Given the description of an element on the screen output the (x, y) to click on. 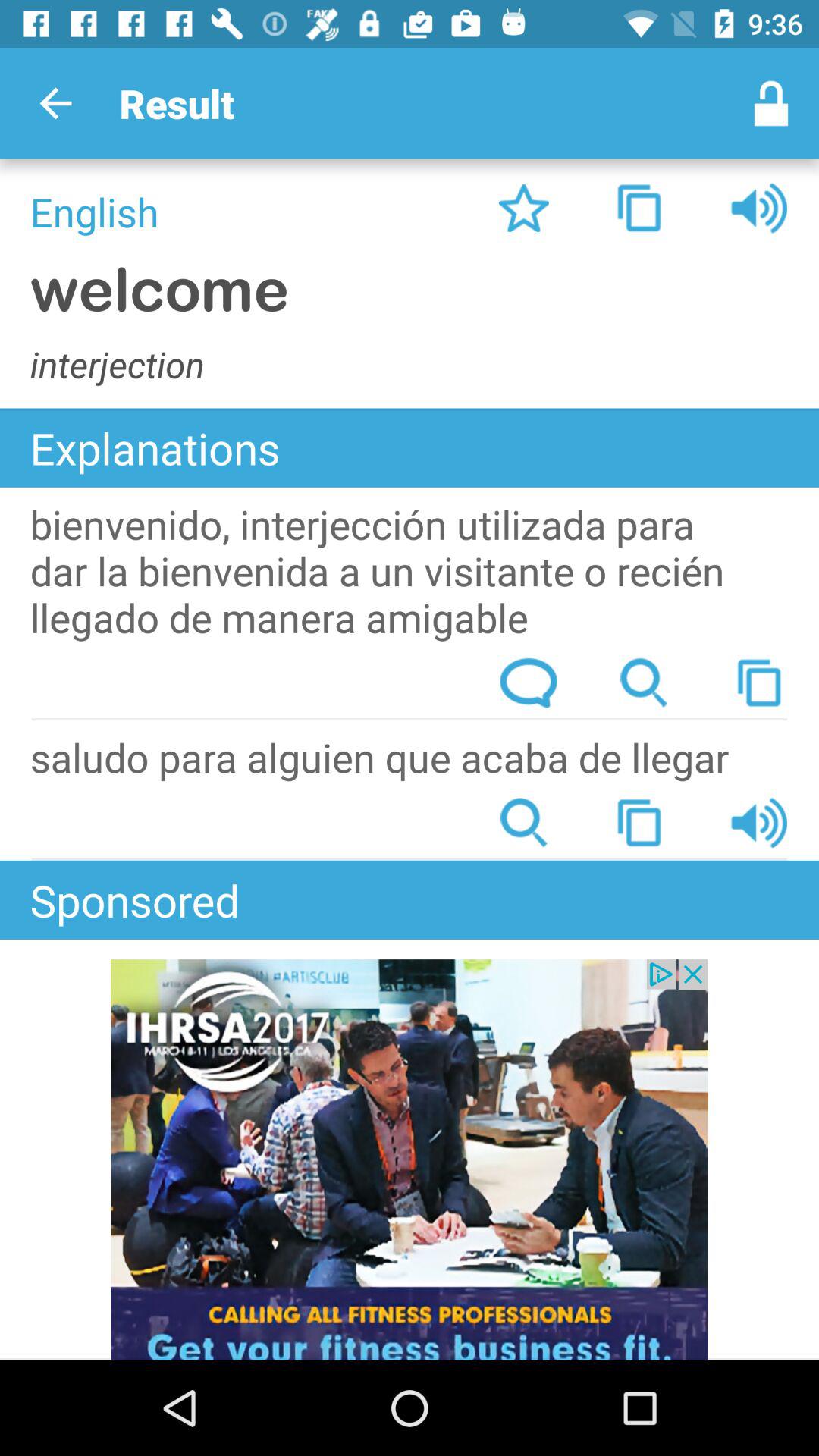
open advertisement (409, 1159)
